Given the description of an element on the screen output the (x, y) to click on. 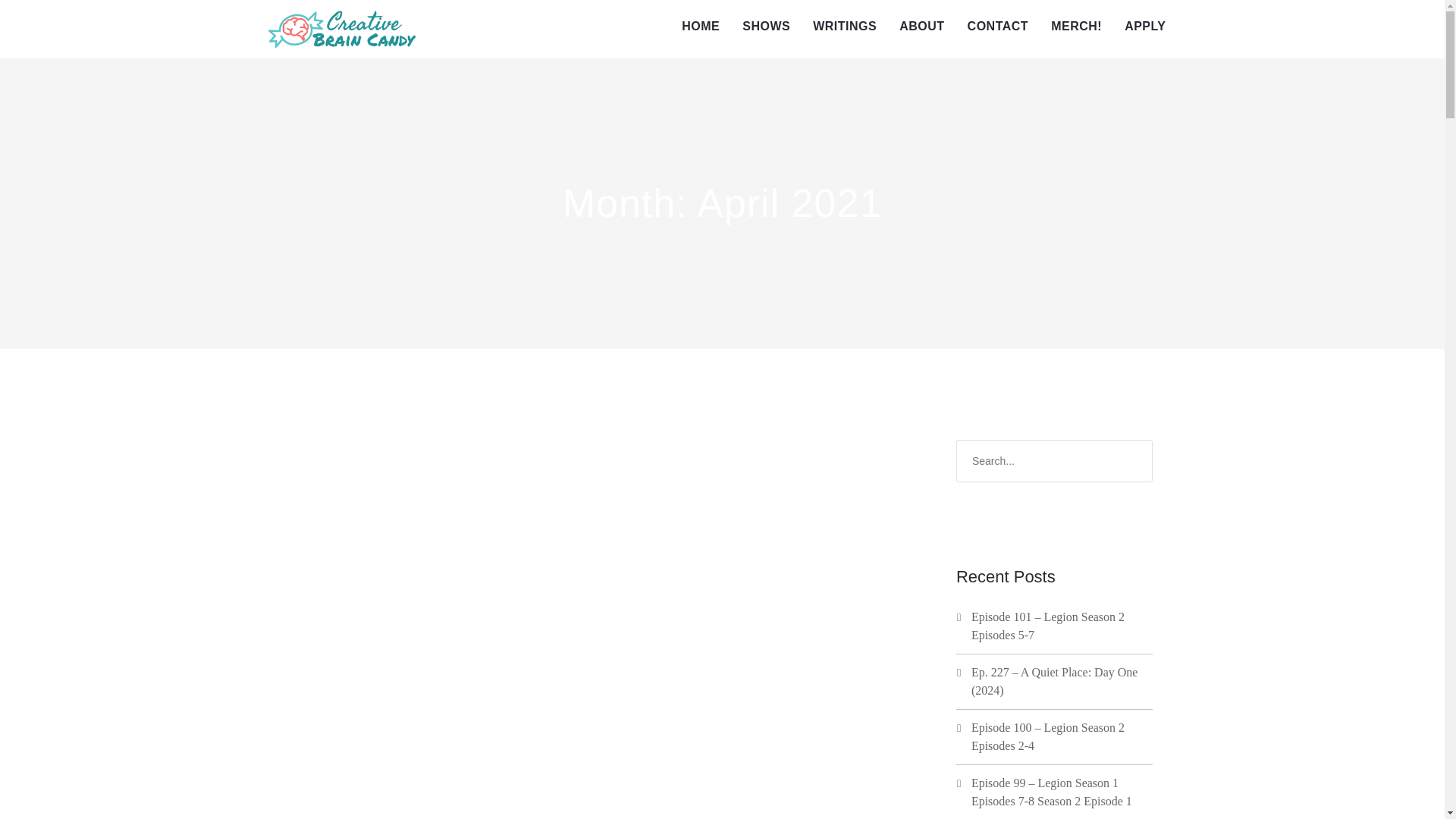
HOME (699, 26)
ABOUT (921, 26)
CONTACT (998, 26)
Creative Brain Candy (342, 29)
WRITINGS (845, 26)
MERCH! (1076, 26)
SHOWS (766, 26)
APPLY (1144, 26)
